Given the description of an element on the screen output the (x, y) to click on. 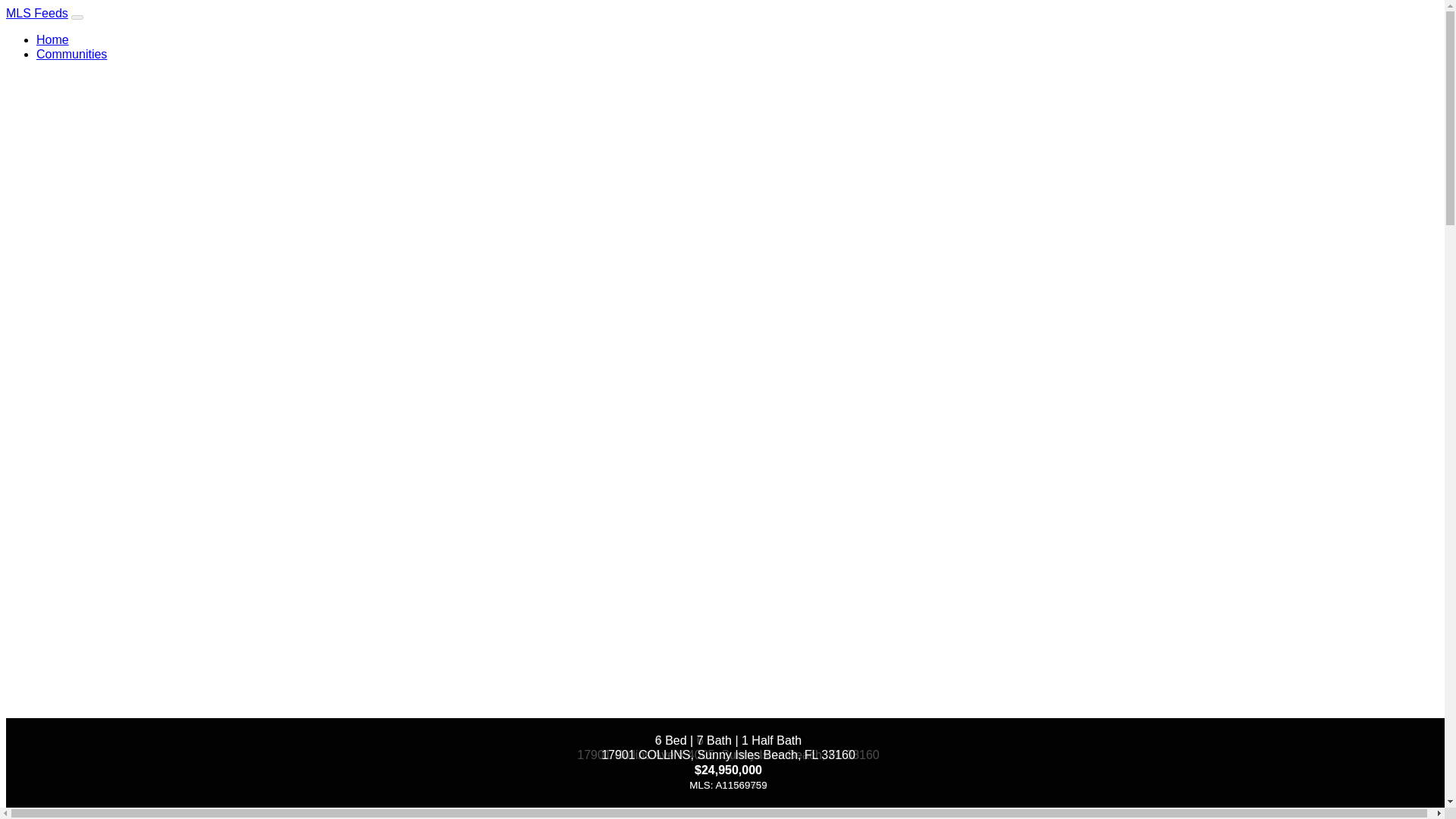
MLS Feeds (36, 12)
Home (52, 39)
Communities (71, 53)
